Given the description of an element on the screen output the (x, y) to click on. 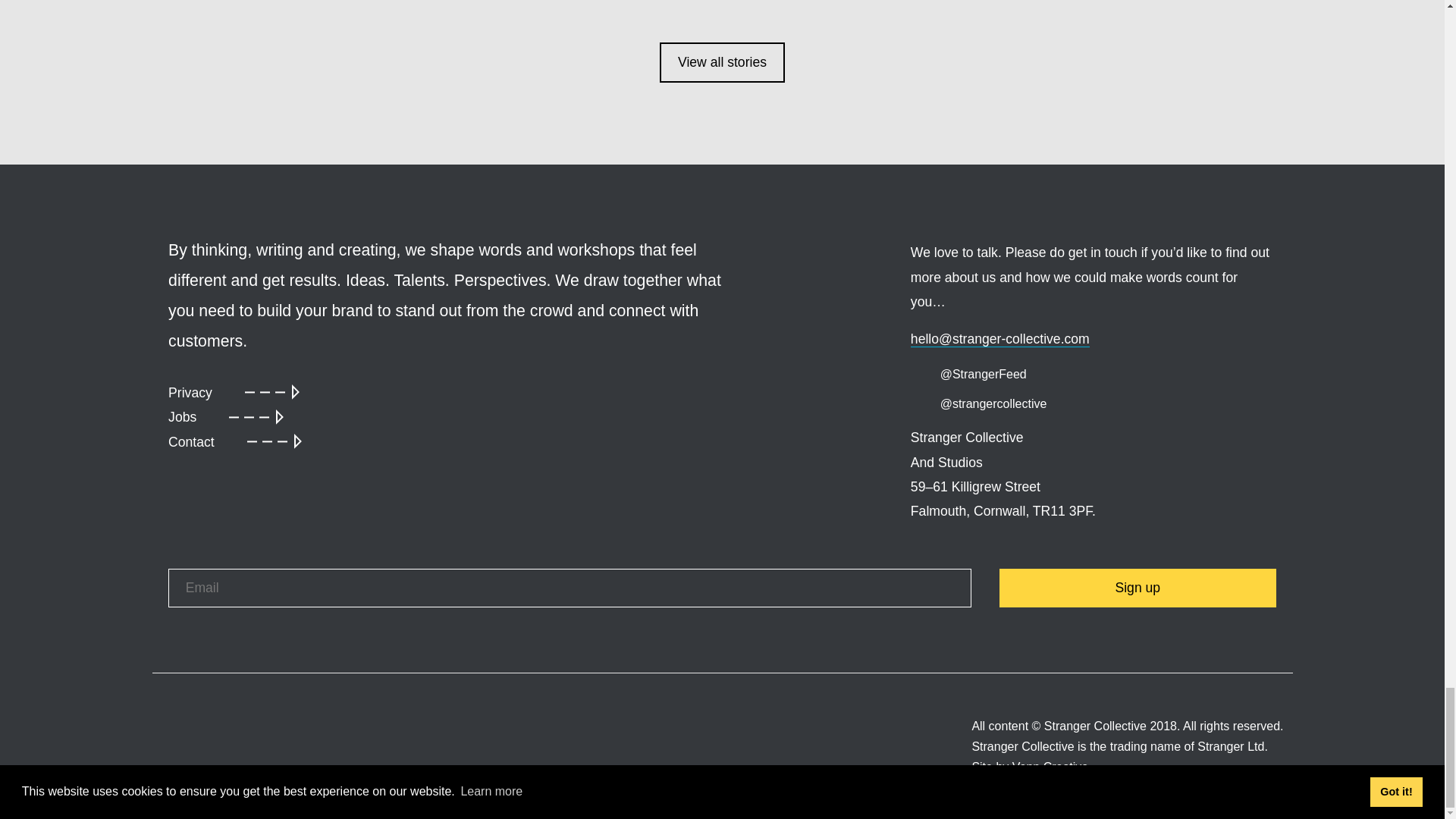
Sign up (1137, 587)
View all stories (721, 62)
Privacy (233, 392)
Jobs (225, 416)
